Given the description of an element on the screen output the (x, y) to click on. 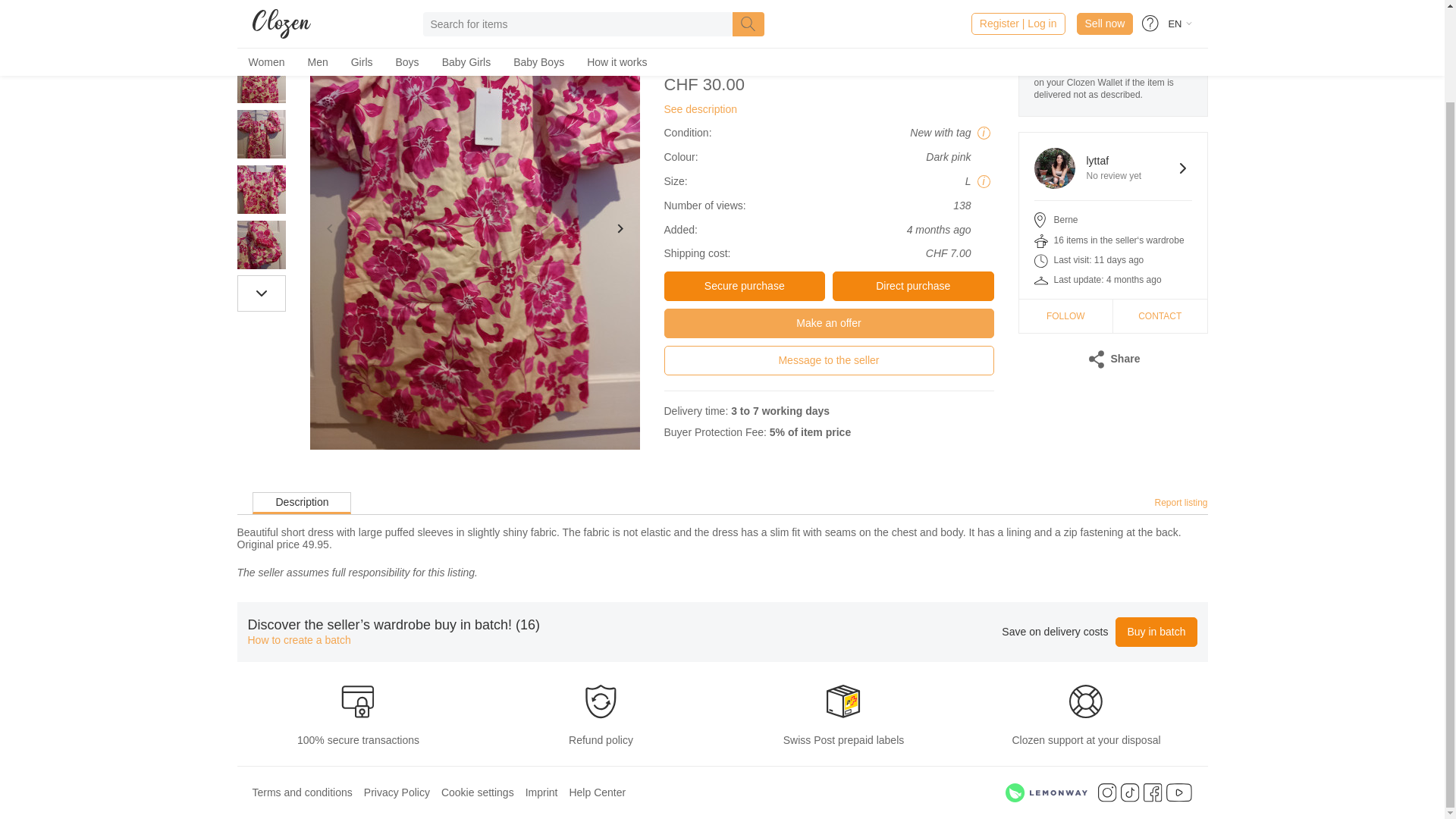
How to create a batch (298, 640)
Report listing (1180, 502)
Privacy Policy (396, 792)
Help Center (1112, 168)
Cookie settings (597, 792)
Terms and conditions (477, 792)
Imprint (301, 792)
